Given the description of an element on the screen output the (x, y) to click on. 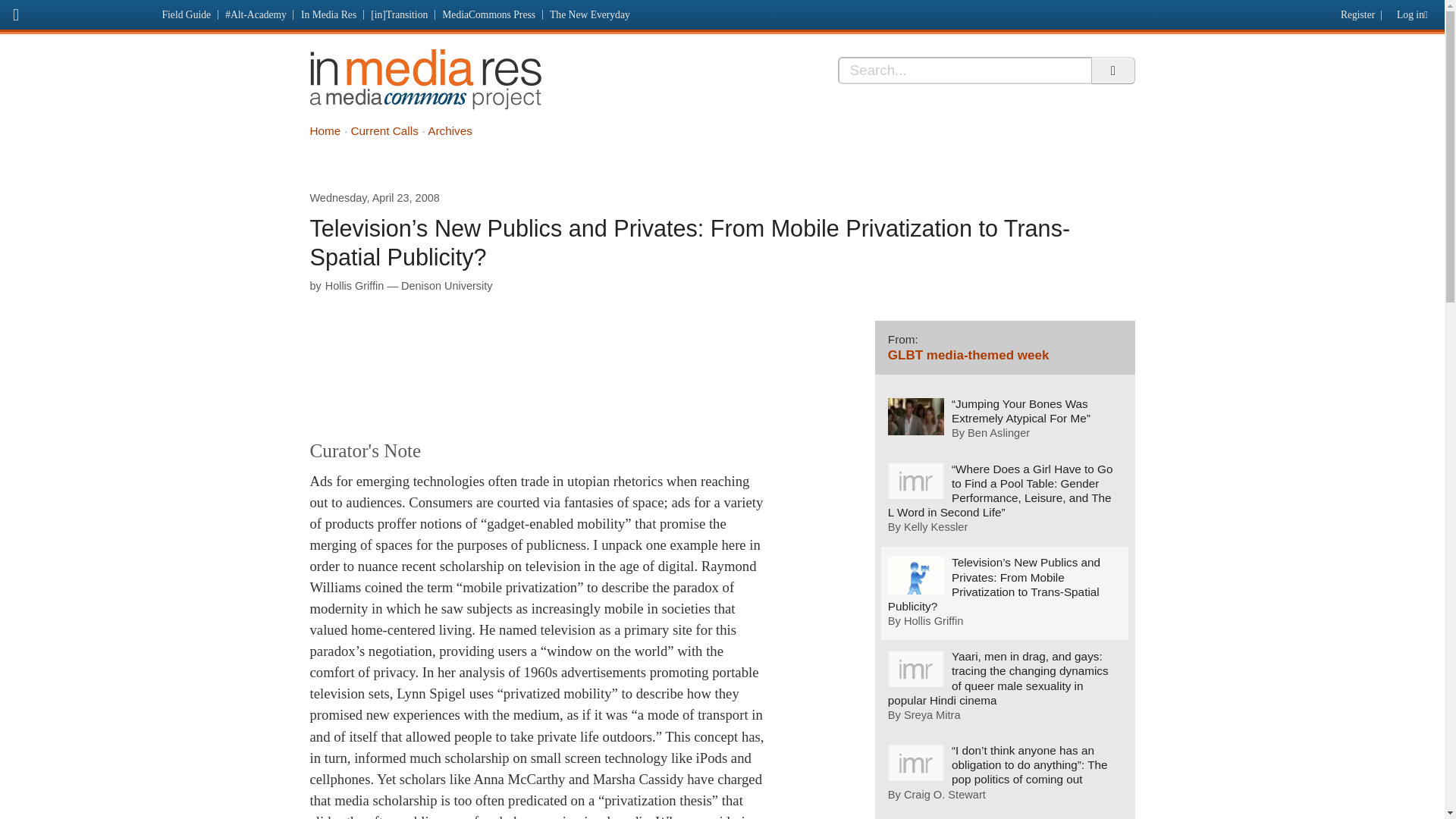
Front page (77, 11)
The New Everyday (590, 14)
Home (324, 130)
MediaCommons Press (489, 14)
In Media Res (328, 14)
Register (1355, 11)
Enter the terms you wish to search for. (965, 70)
In Media Res (424, 79)
Hollis Griffin (354, 285)
Denison University (446, 285)
Archives (449, 130)
Current Calls (384, 130)
Field Guide (186, 14)
Log in (1414, 11)
